Given the description of an element on the screen output the (x, y) to click on. 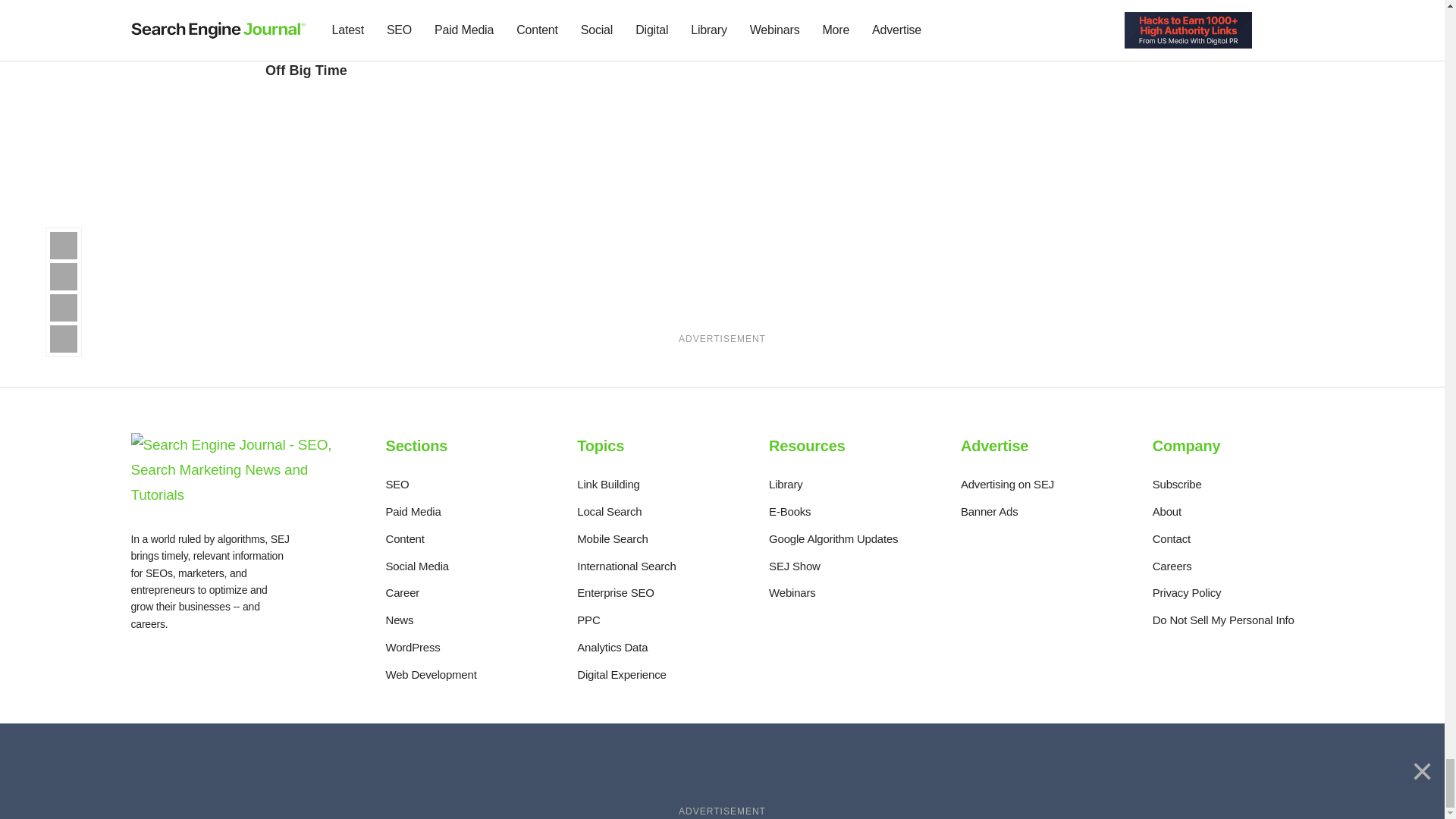
Read the Article (351, 2)
Read the Article (549, 37)
Read the Article (553, 2)
Read the Article (345, 45)
Read the Article (755, 2)
